Given the description of an element on the screen output the (x, y) to click on. 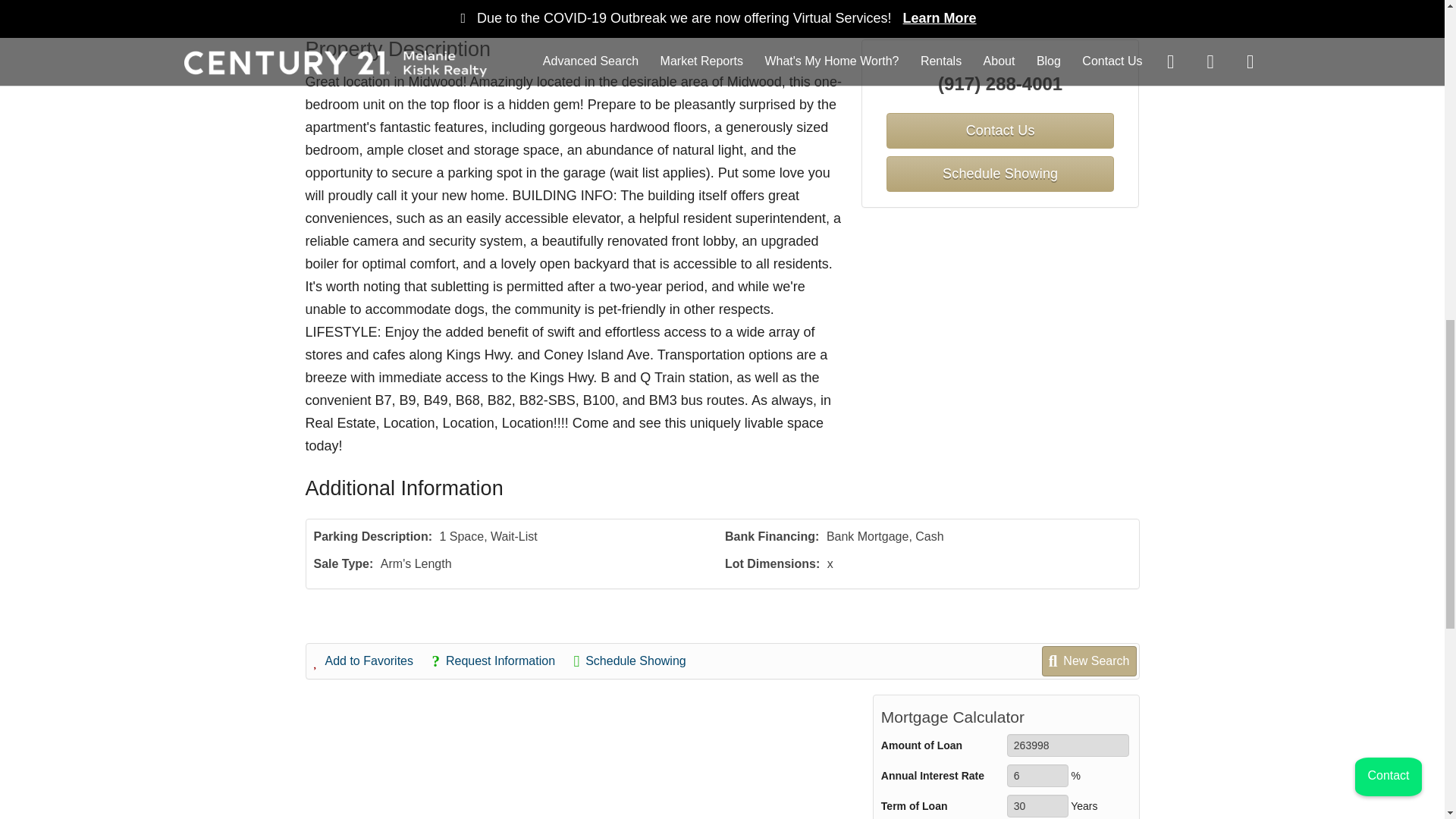
263998 (1068, 744)
Contact Us (357, 8)
Call Us (437, 8)
30 (1037, 805)
6 (1037, 775)
View on Map (521, 8)
Share (603, 8)
New Search (1090, 8)
